Given the description of an element on the screen output the (x, y) to click on. 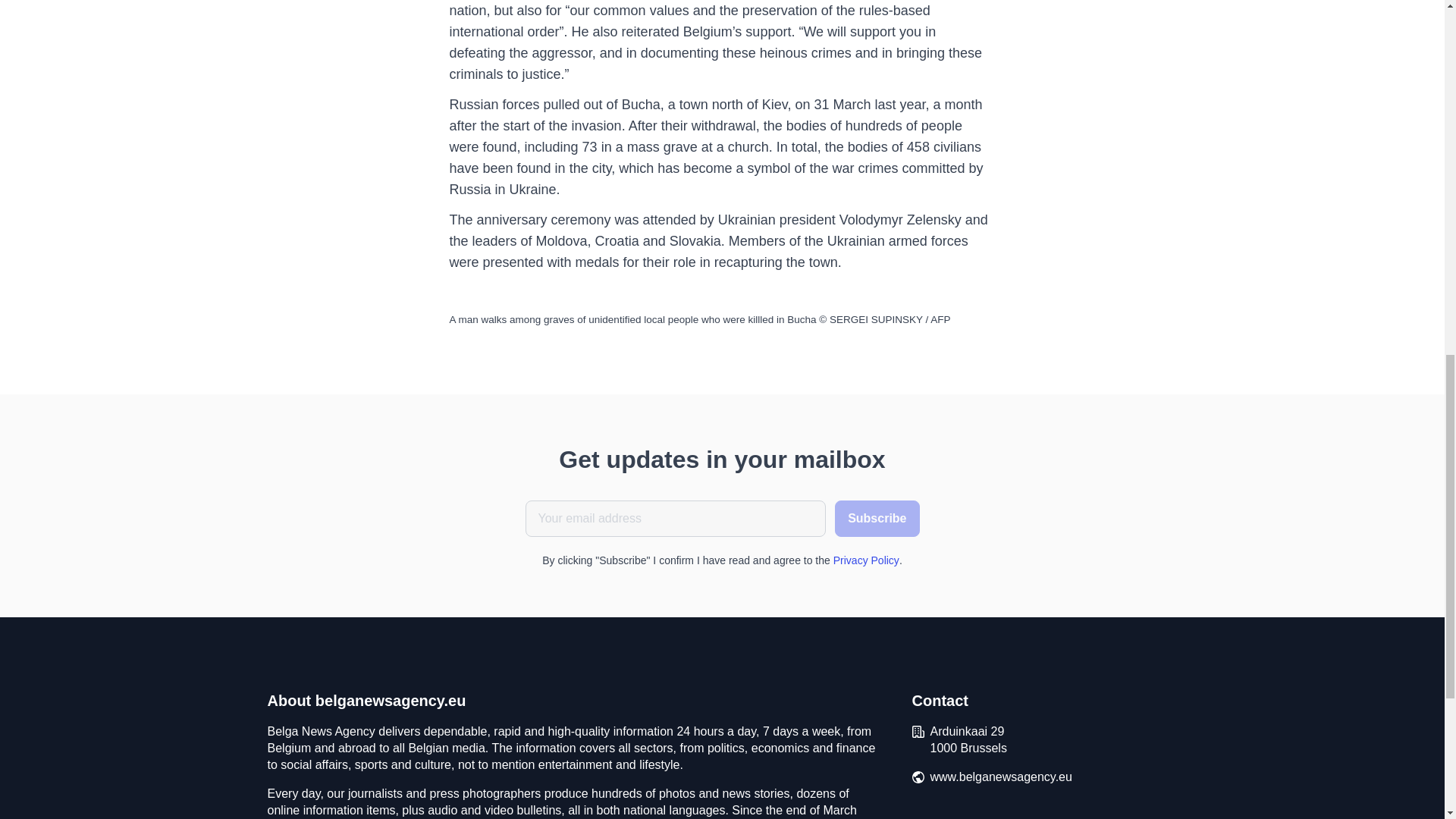
www.belganewsagency.eu (1000, 777)
Subscribe (876, 518)
Privacy Policy (865, 560)
